Given the description of an element on the screen output the (x, y) to click on. 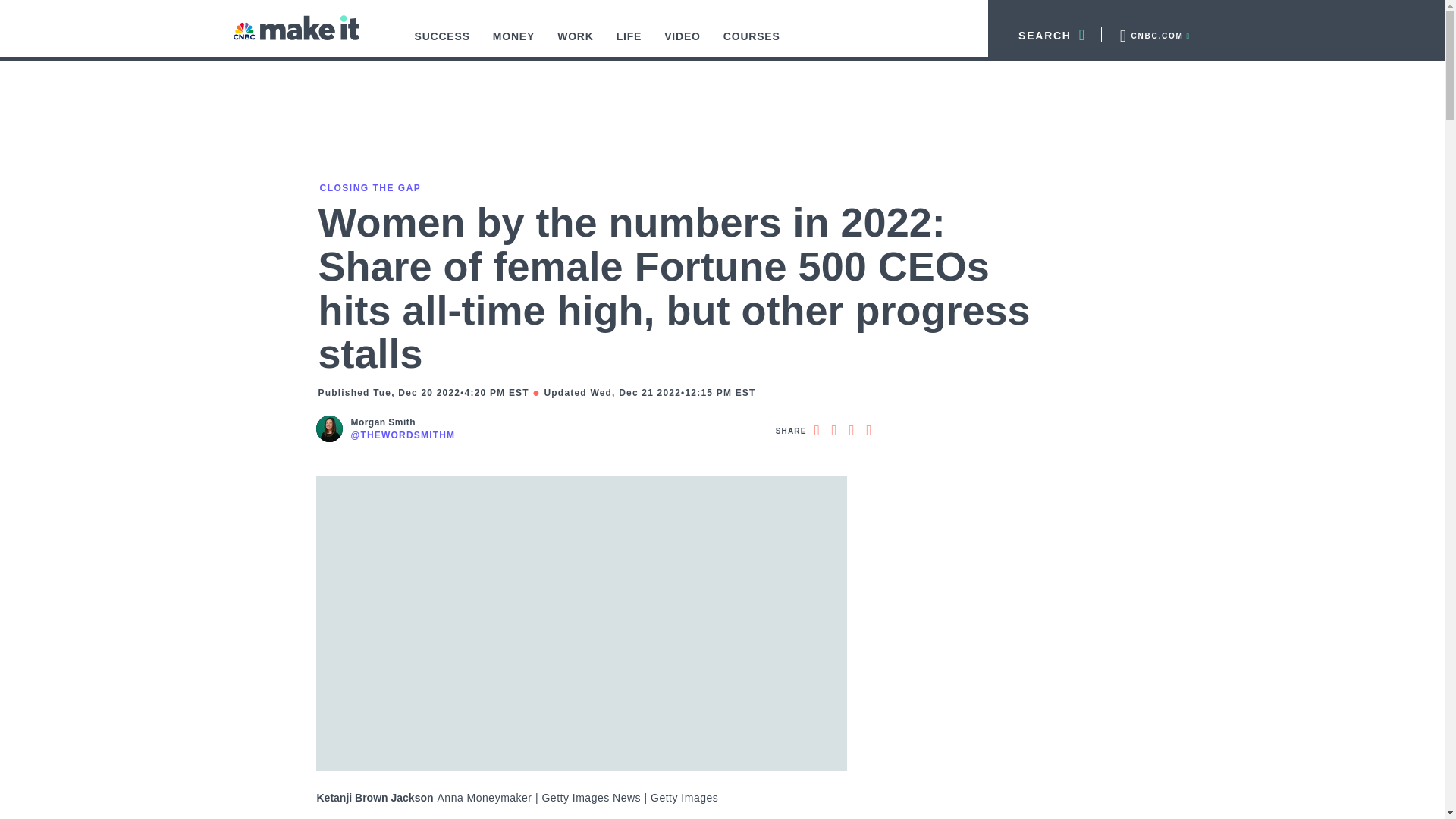
Share Article via Twitter (834, 430)
Share Article via Email (868, 430)
Share Article via Facebook (816, 430)
SEARCH (1045, 33)
COURSES (751, 44)
Share Article via LinkedIn (851, 430)
VIDEO (681, 44)
CLOSING THE GAP (368, 187)
Morgan Smith (402, 422)
CNBC.COM (1153, 33)
